Given the description of an element on the screen output the (x, y) to click on. 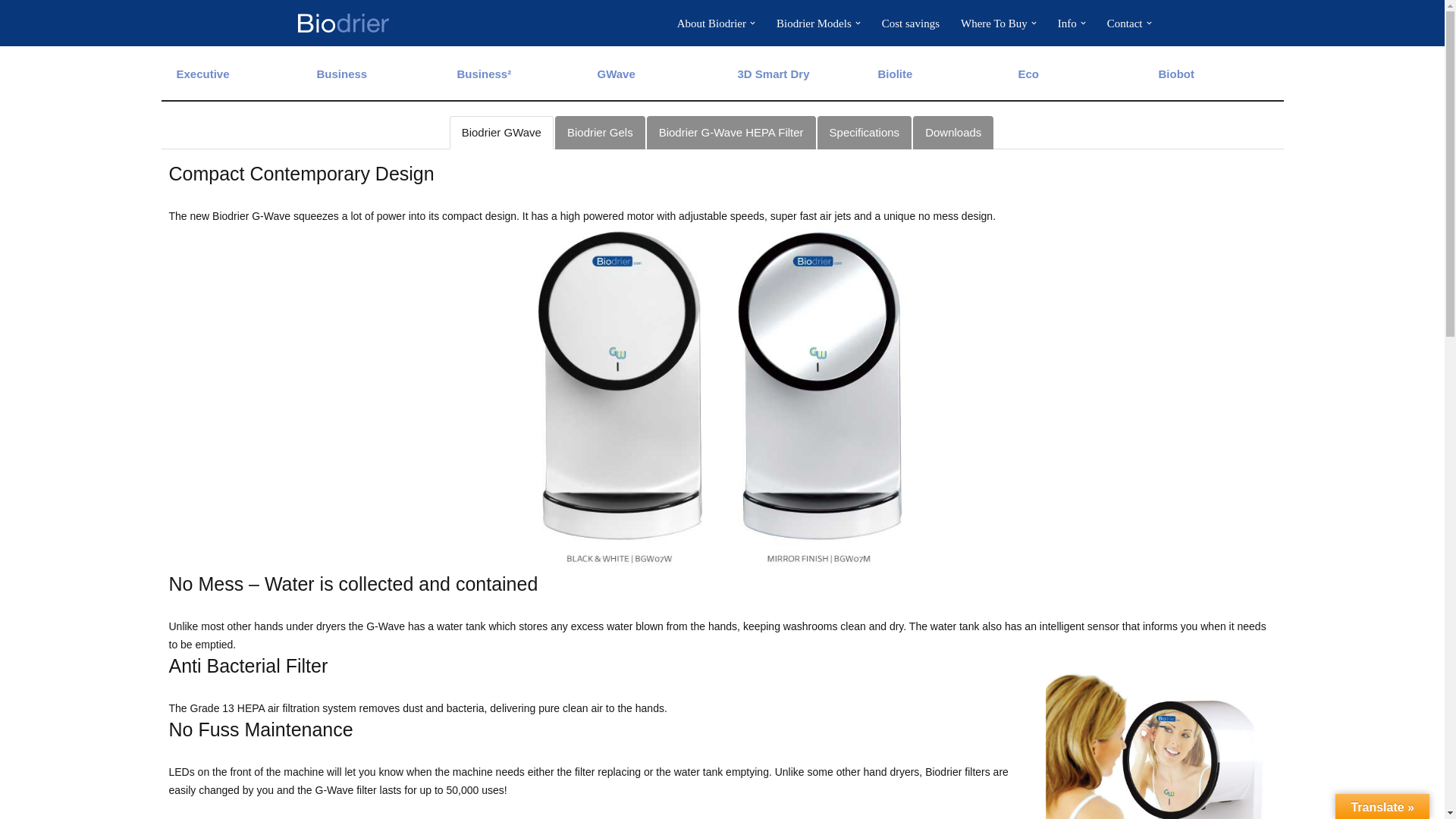
Biodrier BioLite (894, 73)
Biodrier BioBot (1175, 73)
Biodrier Executive (202, 73)
Biodrier Eco (1028, 73)
Info (1067, 22)
Contact (1124, 22)
About Biodrier (711, 22)
Skip to content (11, 31)
Biodrier GWave (615, 73)
Biodrier 3D Smart Dry (772, 73)
Where To Buy (993, 22)
Biodrier Business (342, 73)
Biodrier Models (813, 22)
Cost savings (910, 22)
